Given the description of an element on the screen output the (x, y) to click on. 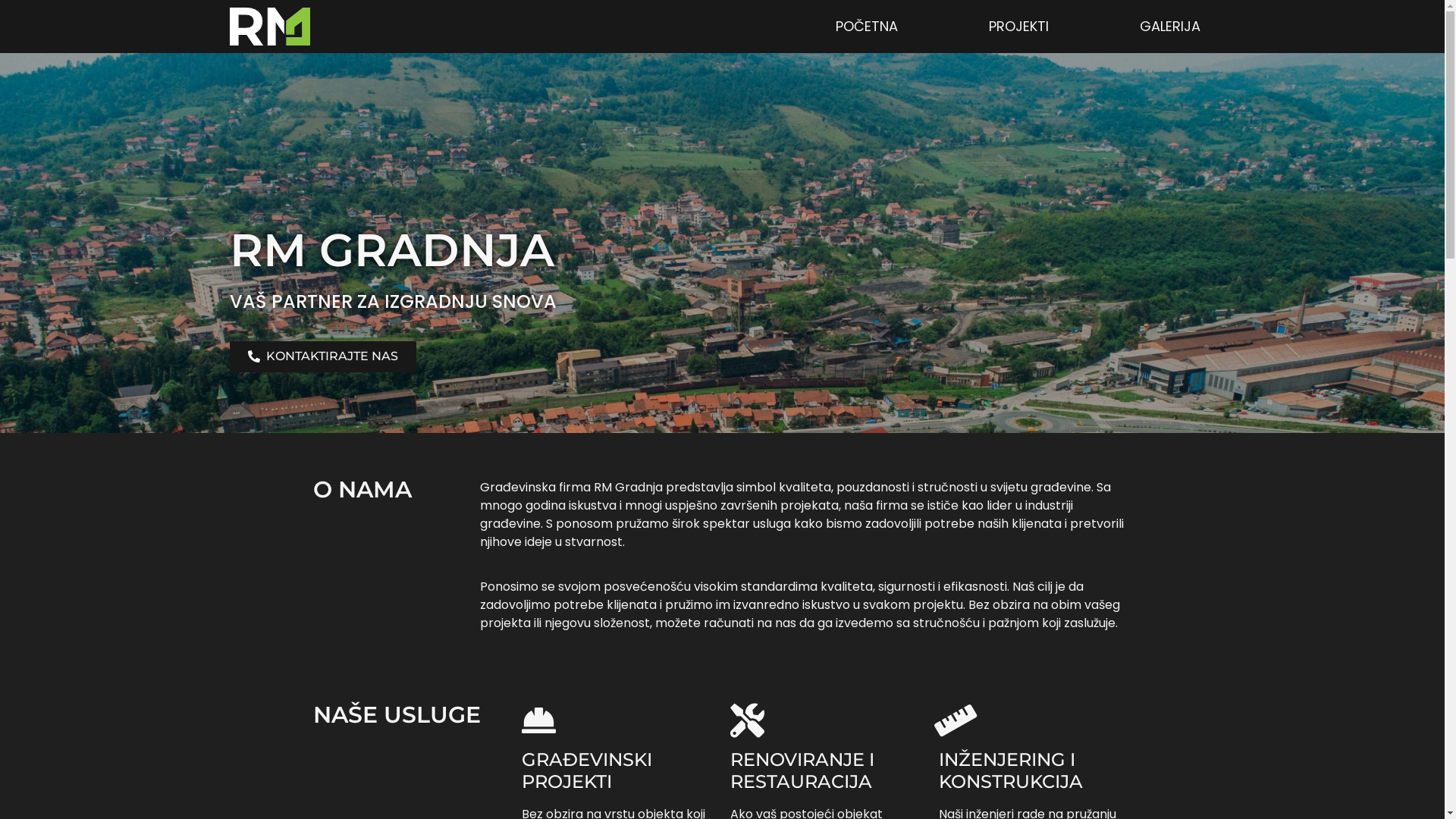
GALERIJA Element type: text (1168, 26)
KONTAKTIRAJTE NAS Element type: text (322, 356)
PROJEKTI Element type: text (1018, 26)
